Given the description of an element on the screen output the (x, y) to click on. 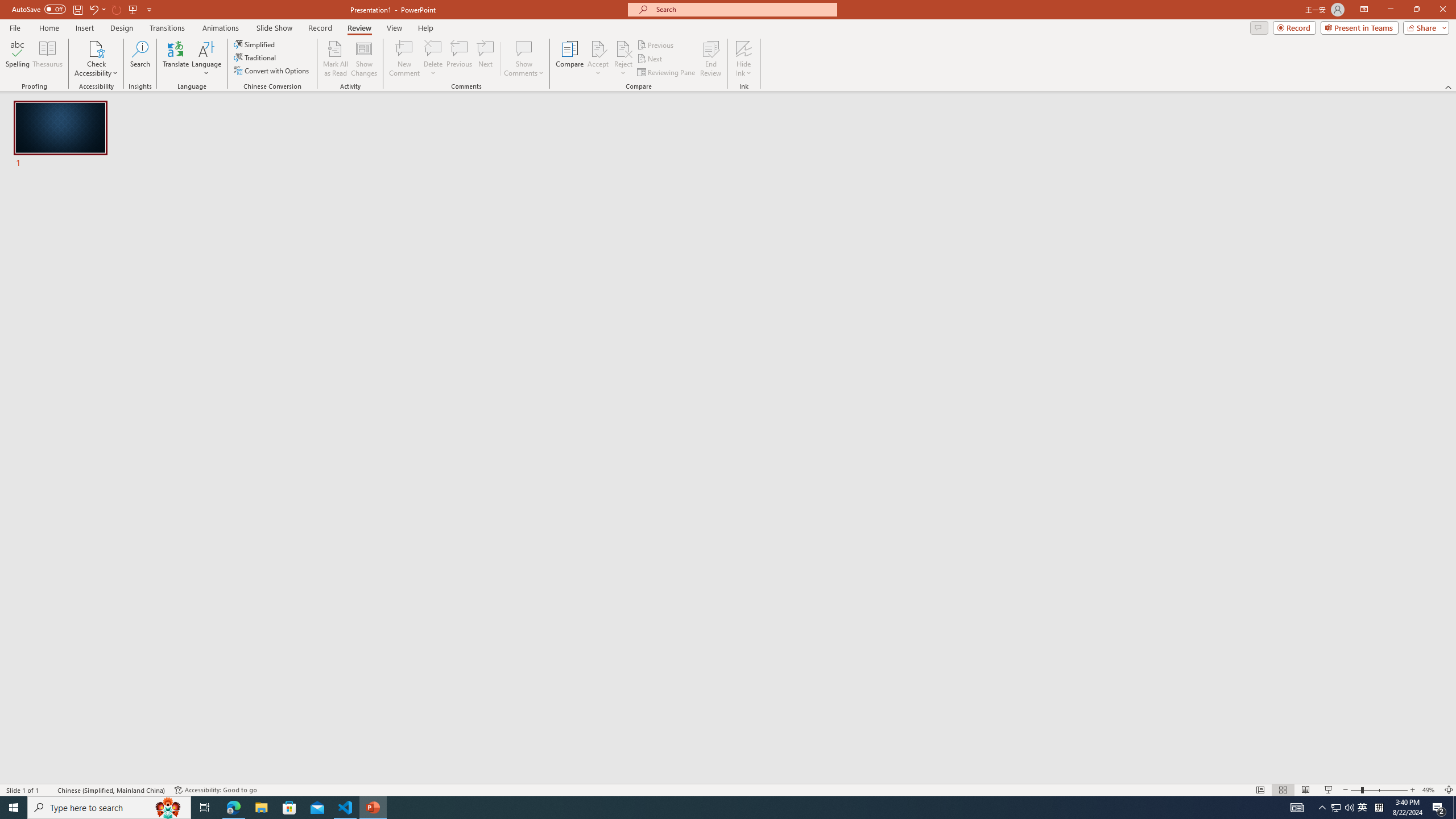
Accept Change (598, 48)
Simplified (254, 44)
Show Changes (363, 58)
Translate (175, 58)
Microsoft search (742, 9)
Language (206, 58)
Class: MsoCommandBar (728, 789)
Thesaurus... (47, 58)
